Given the description of an element on the screen output the (x, y) to click on. 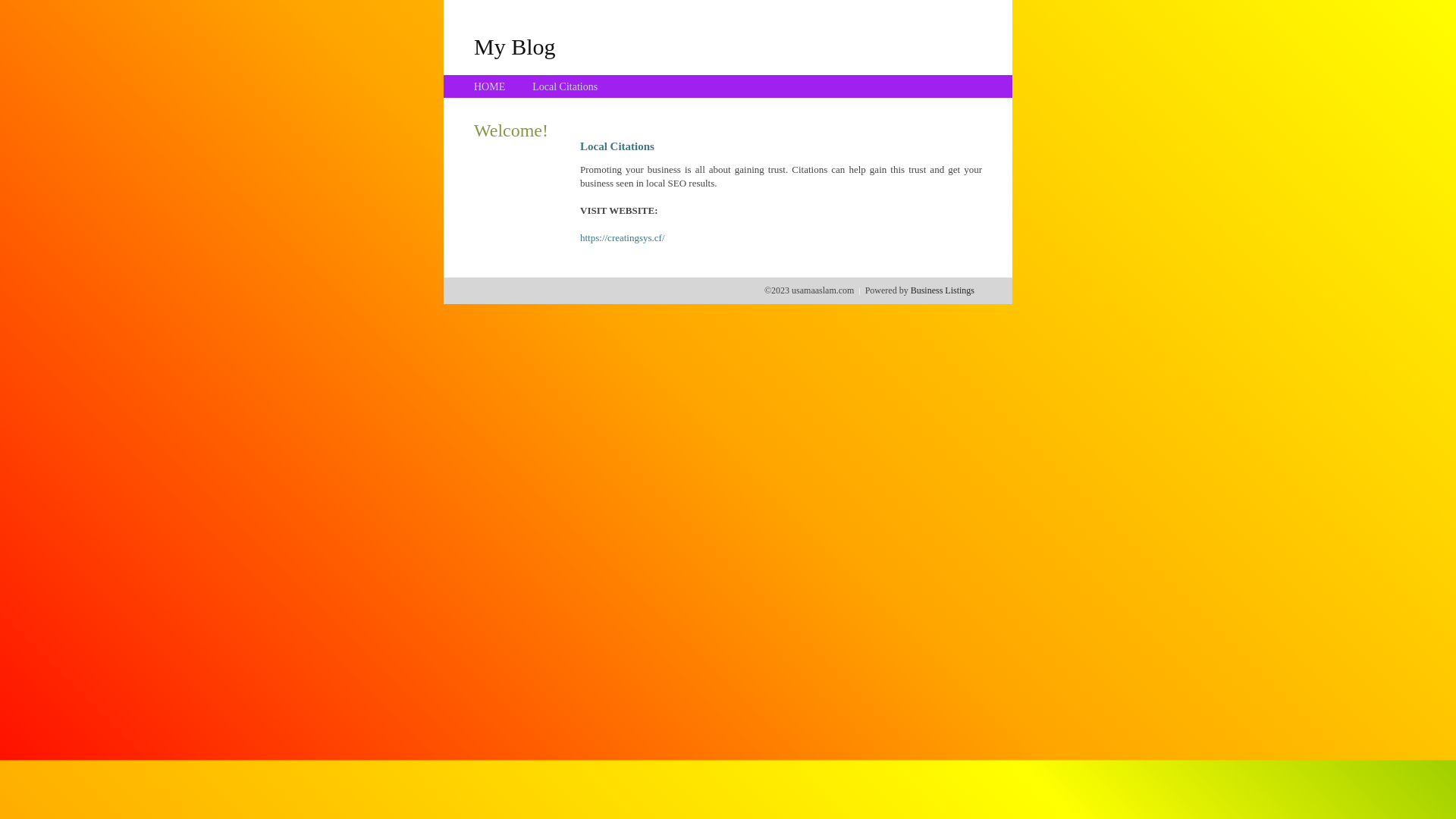
Local Citations Element type: text (564, 86)
https://creatingsys.cf/ Element type: text (622, 237)
My Blog Element type: text (514, 46)
HOME Element type: text (489, 86)
Business Listings Element type: text (942, 290)
